Given the description of an element on the screen output the (x, y) to click on. 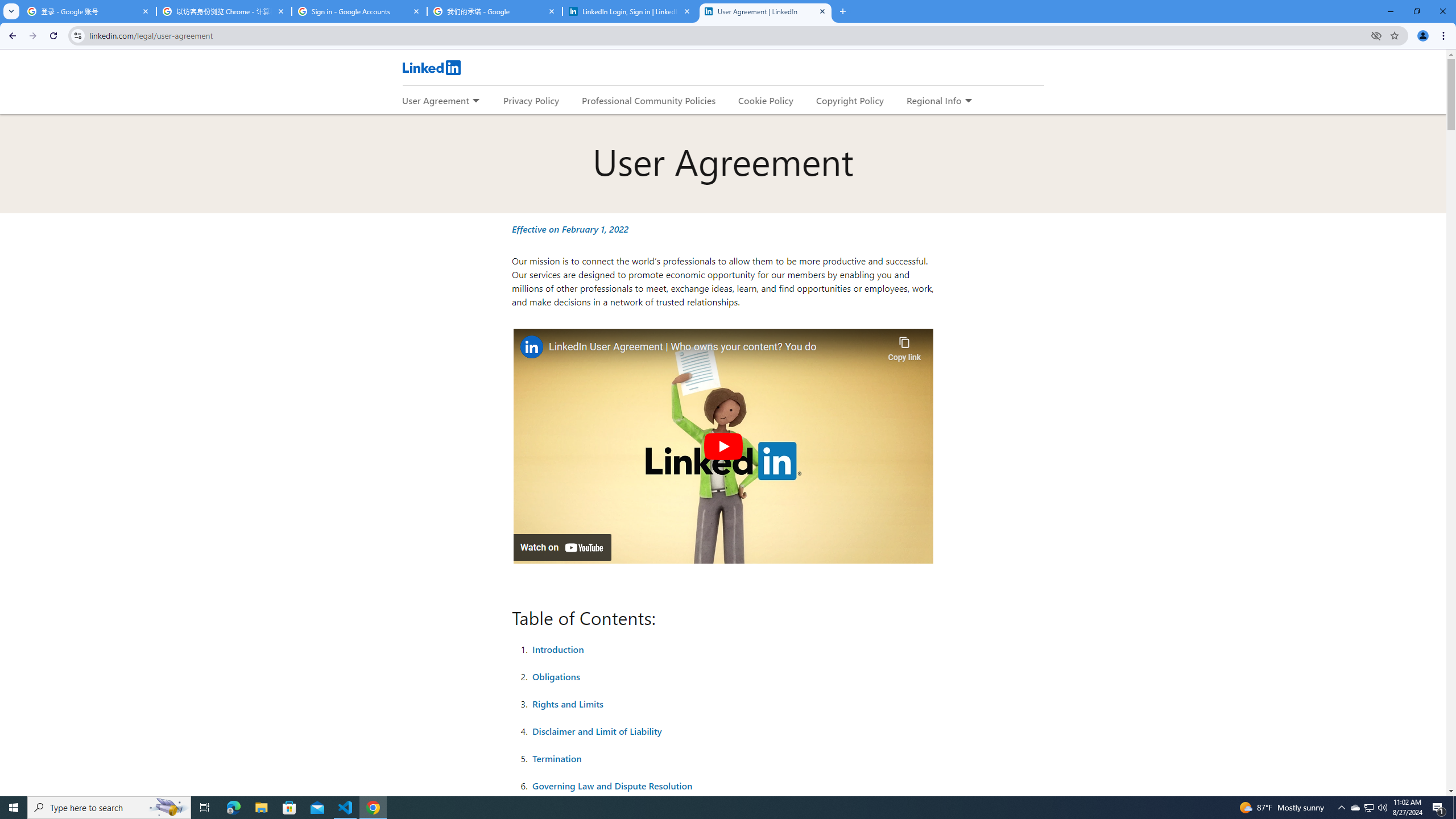
Obligations (555, 675)
Governing Law and Dispute Resolution (612, 784)
Photo image of LinkedIn (531, 346)
Regional Info (933, 100)
Expand to show more links for User Agreement (475, 101)
Watch on YouTube (561, 547)
